Given the description of an element on the screen output the (x, y) to click on. 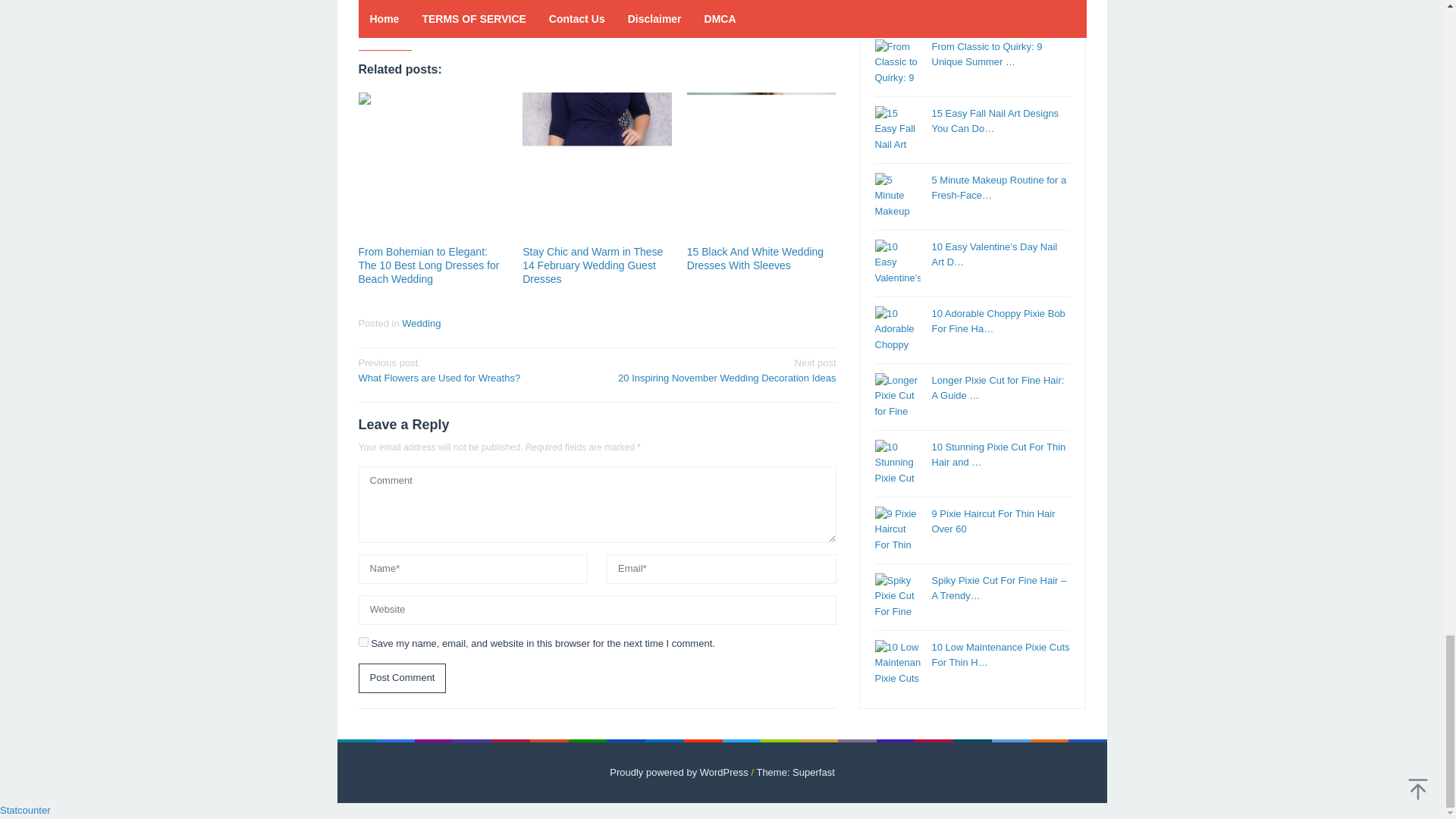
Share this (369, 23)
Post Comment (401, 677)
Pin this (421, 23)
yes (363, 642)
Telegram Share (449, 23)
Whatsapp (475, 23)
Tweet this (396, 23)
